Given the description of an element on the screen output the (x, y) to click on. 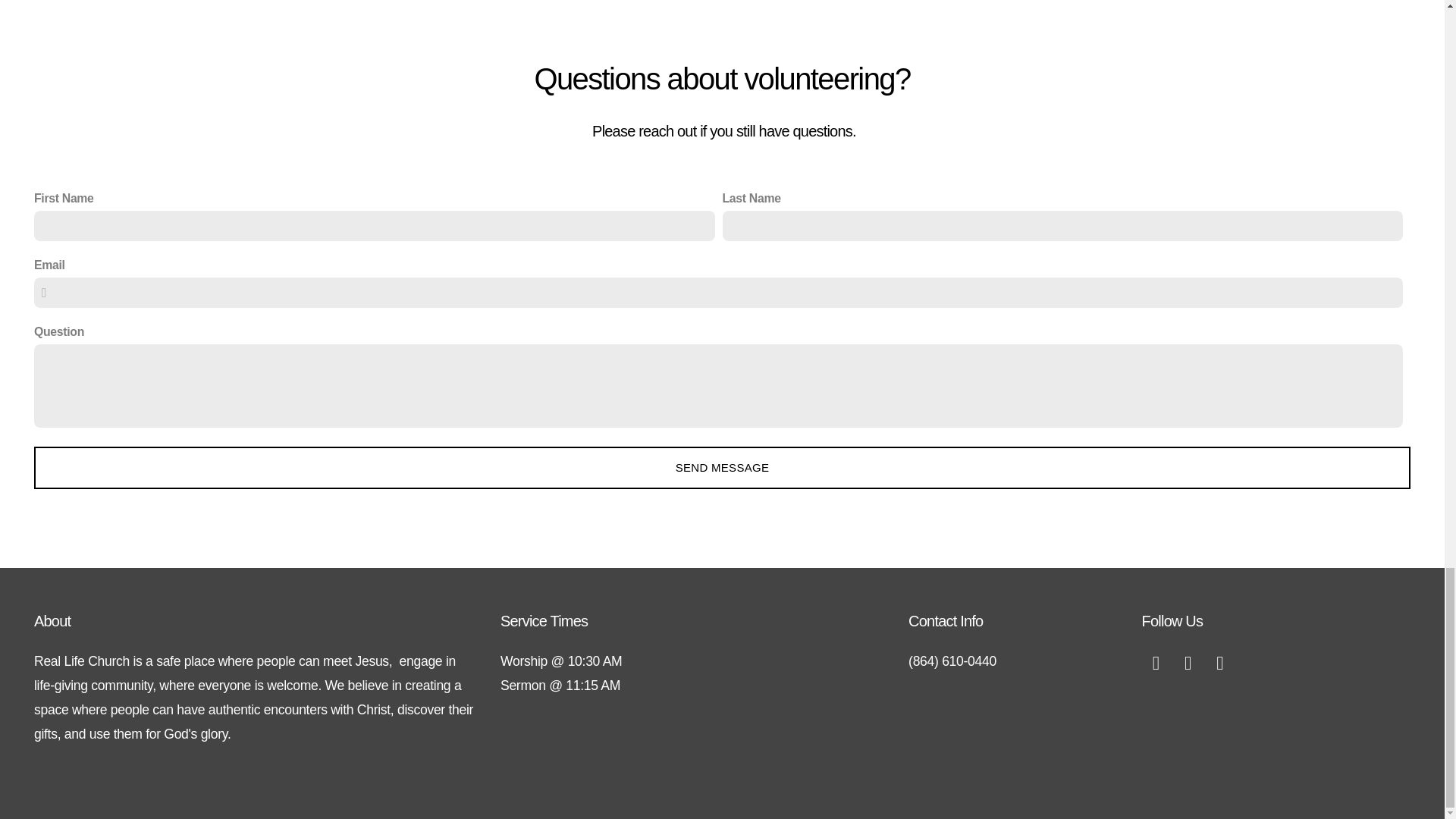
SEND MESSAGE (721, 467)
